Given the description of an element on the screen output the (x, y) to click on. 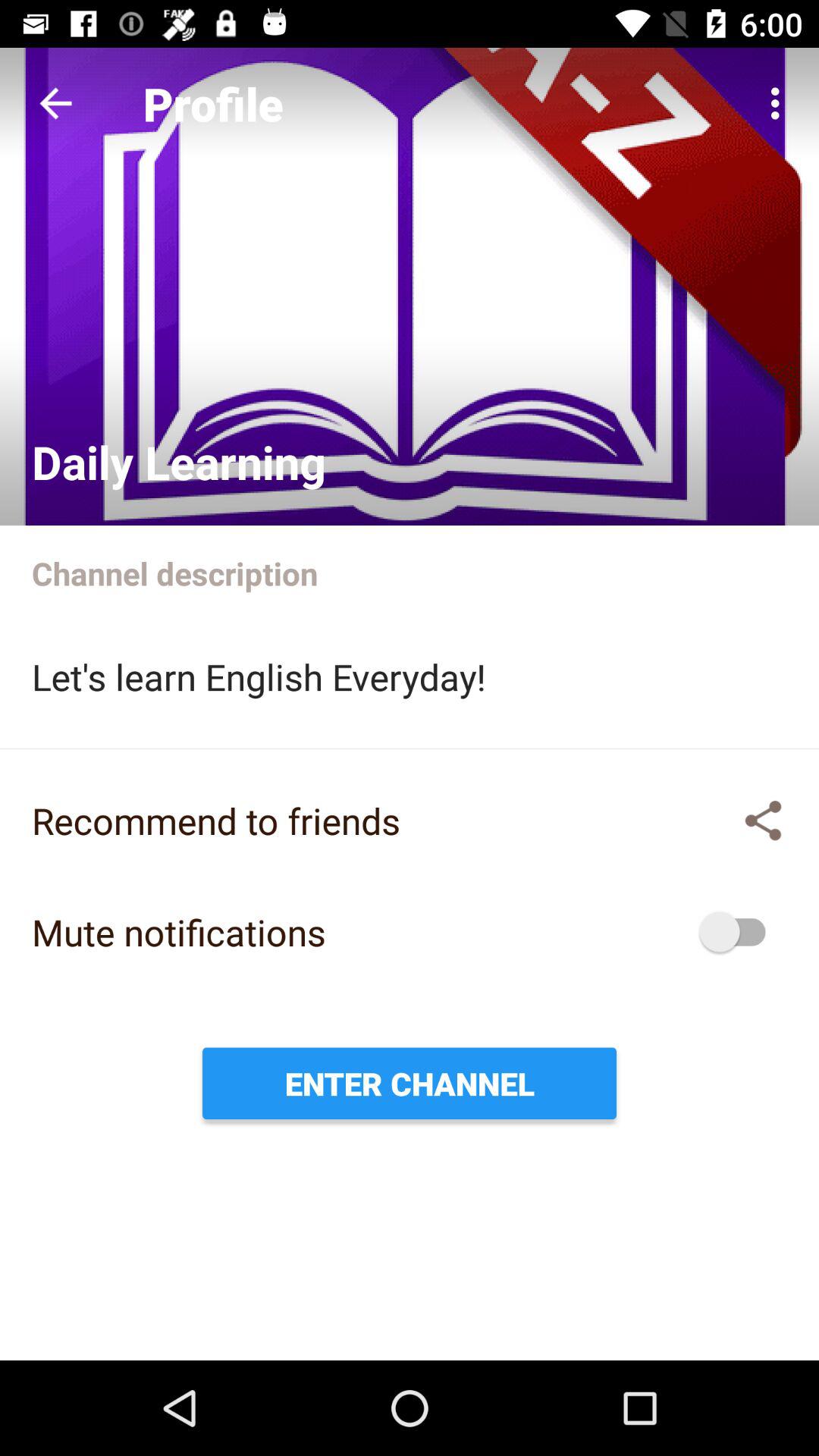
tap icon next to profile (55, 103)
